Given the description of an element on the screen output the (x, y) to click on. 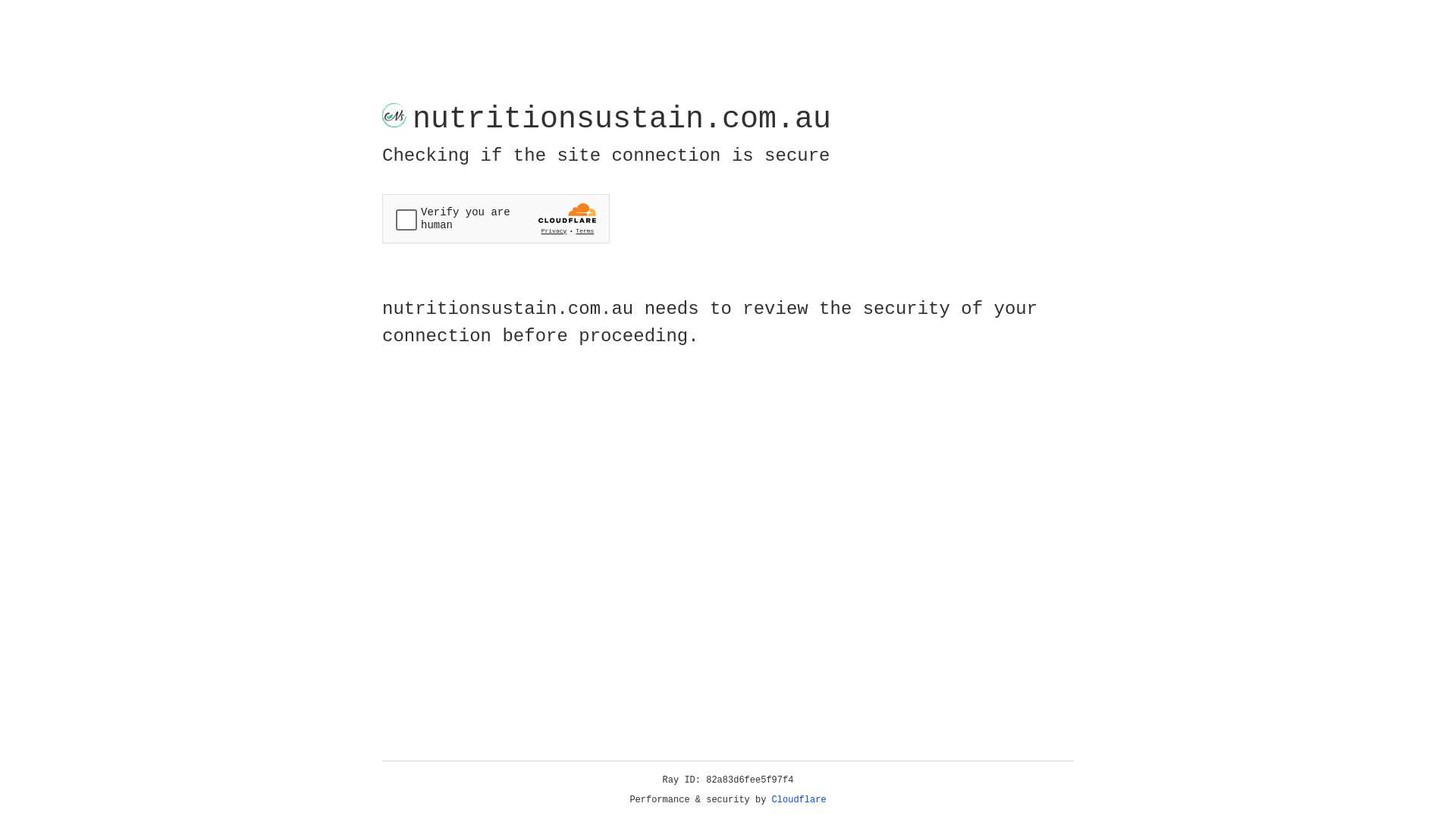
Cloudflare Element type: text (798, 799)
Widget containing a Cloudflare security challenge Element type: hover (495, 218)
